Given the description of an element on the screen output the (x, y) to click on. 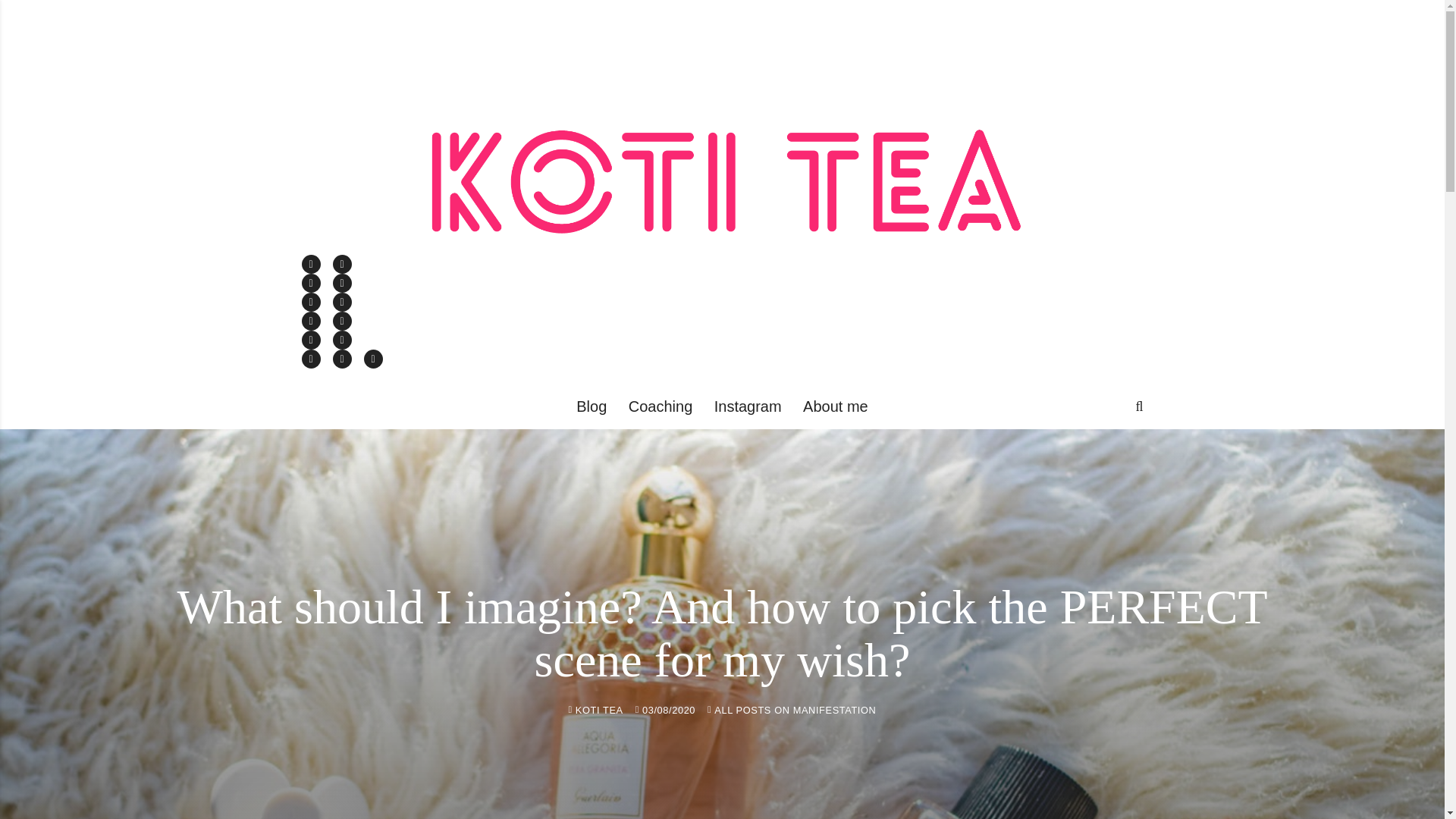
Flickr (340, 321)
YouTube (340, 282)
Dribbble (340, 302)
Facebook (310, 263)
About me (835, 406)
Vimeo (310, 282)
Instagram (310, 321)
ALL POSTS ON MANIFESTATION (795, 709)
Instagram (747, 406)
Blog (591, 406)
